Given the description of an element on the screen output the (x, y) to click on. 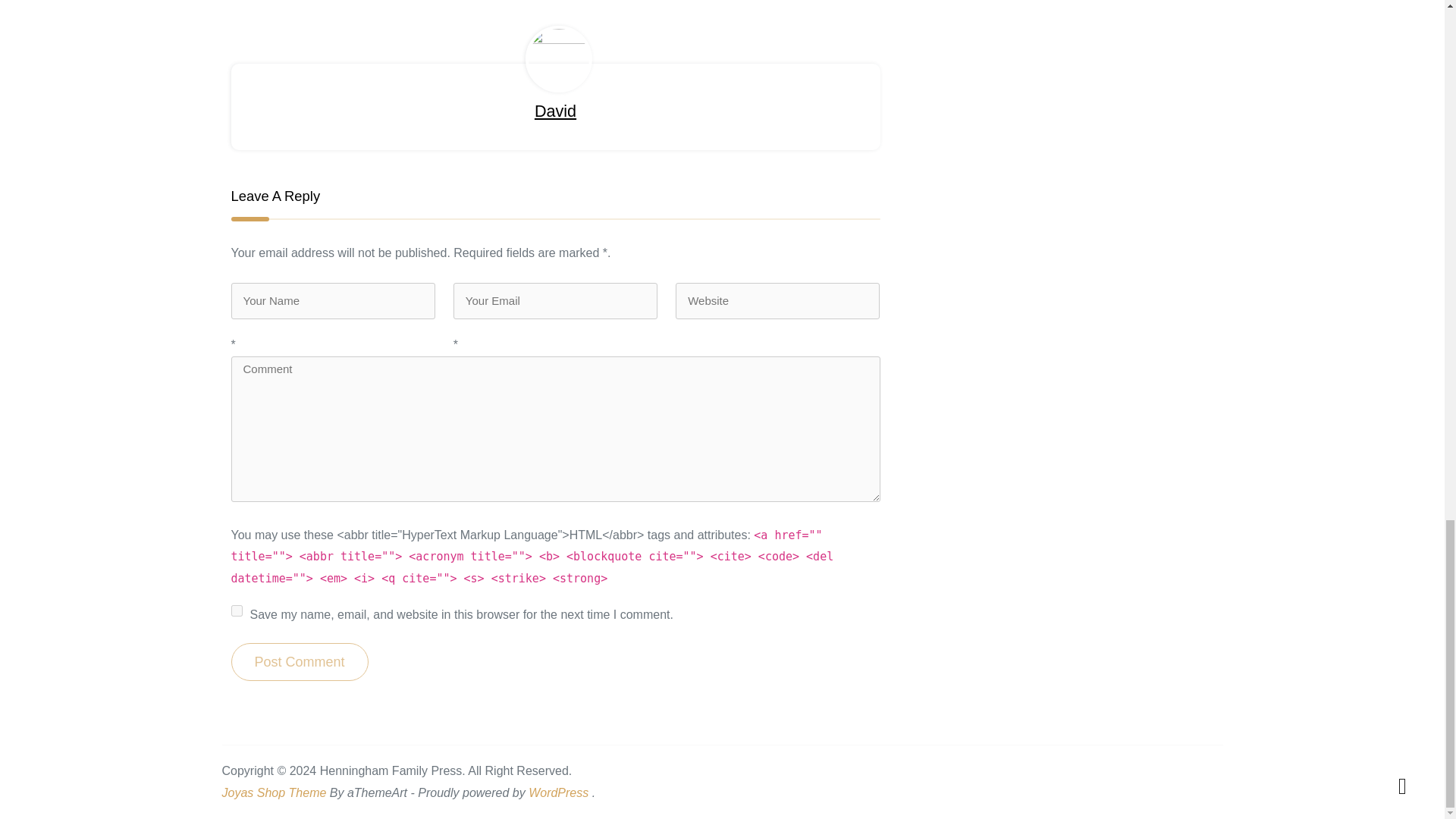
WordPress (558, 792)
Joyas Shop Theme (273, 792)
David (555, 110)
Post Comment (299, 661)
yes (235, 610)
